Given the description of an element on the screen output the (x, y) to click on. 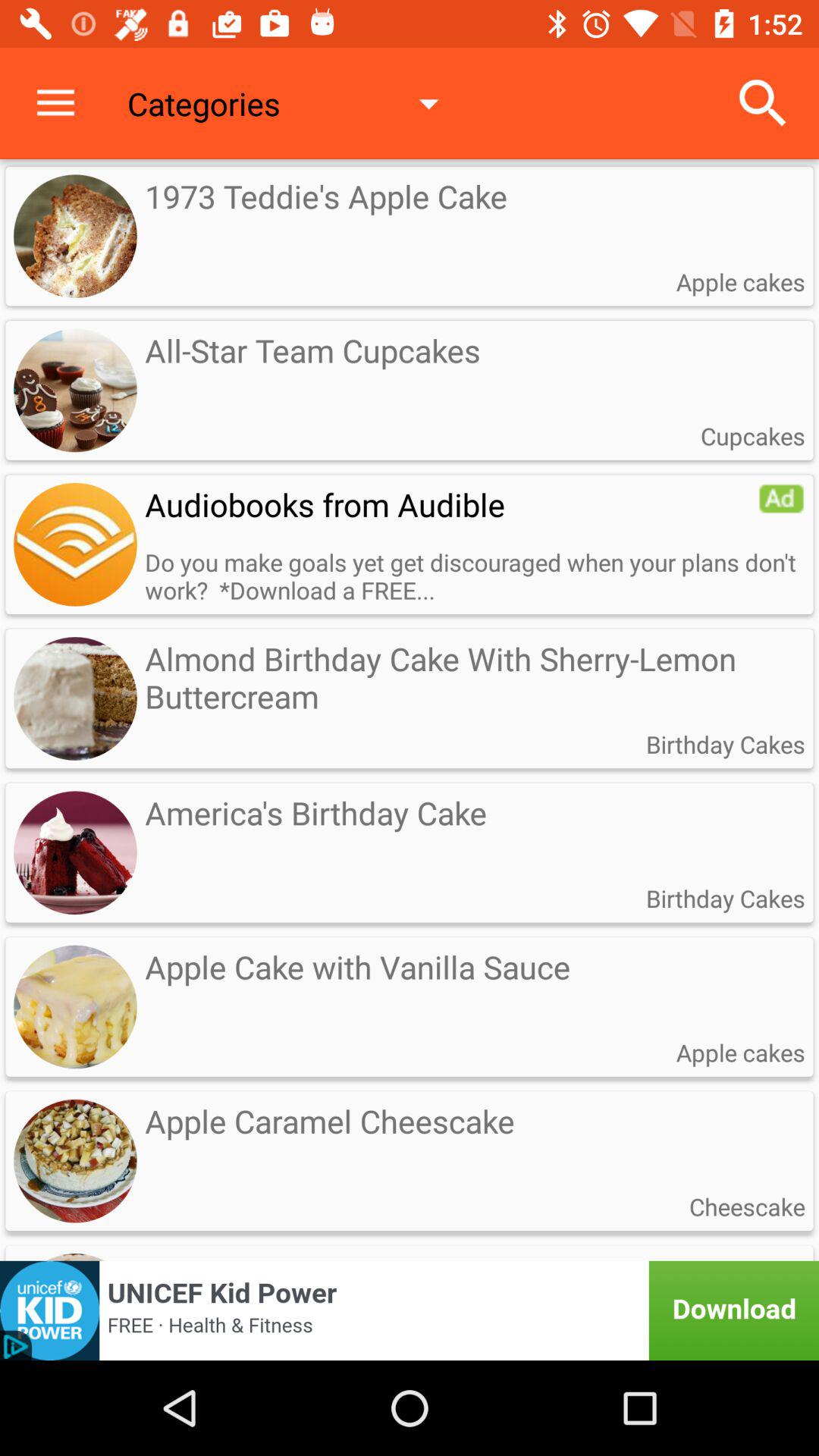
download app (409, 1310)
